Given the description of an element on the screen output the (x, y) to click on. 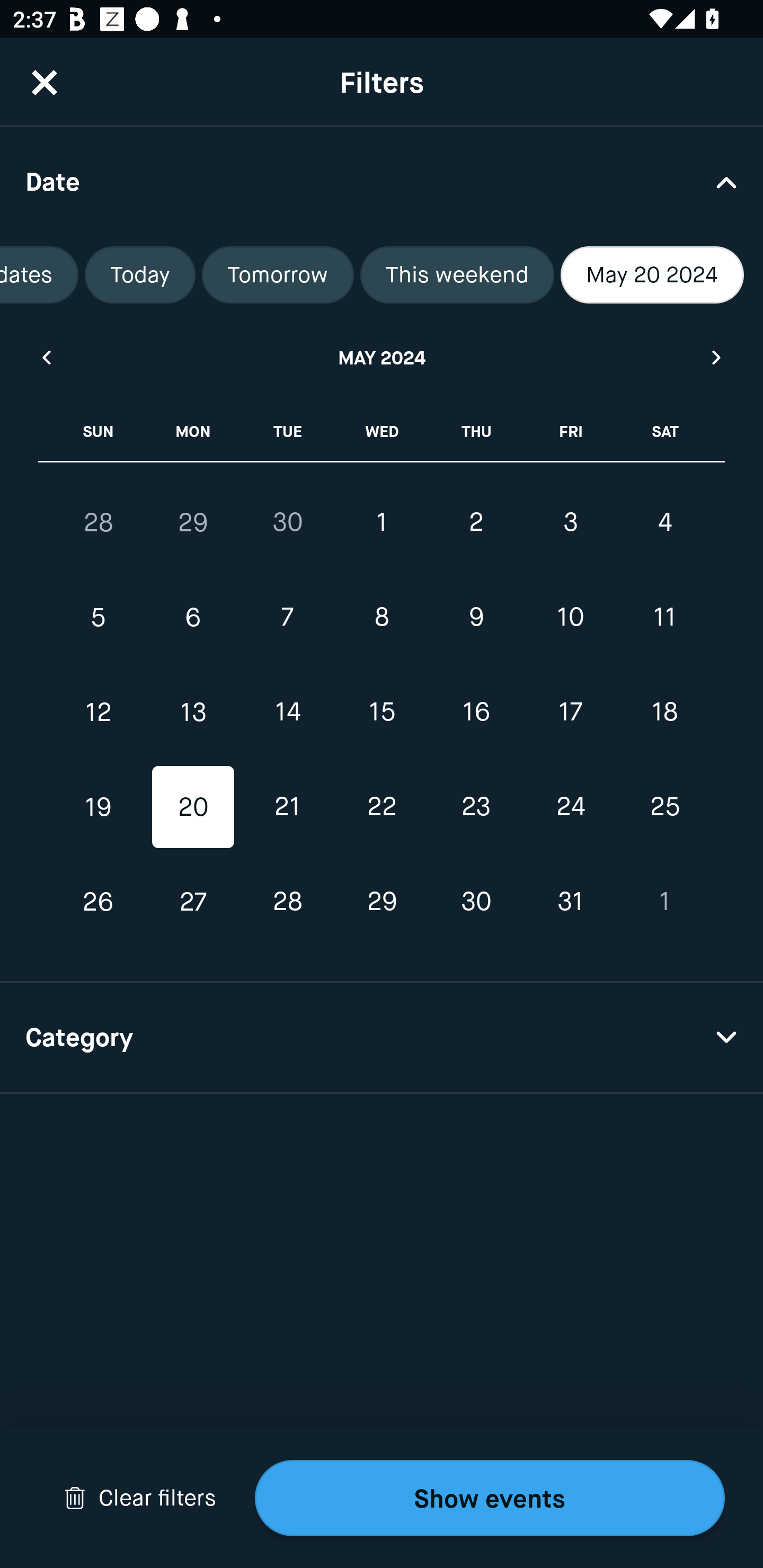
CloseButton (44, 82)
Date Drop Down Arrow (381, 181)
Today (139, 274)
Tomorrow (278, 274)
This weekend (456, 274)
May 20 2024 (651, 274)
Previous (45, 357)
Next (717, 357)
28 (98, 522)
29 (192, 522)
30 (287, 522)
1 (381, 522)
2 (475, 522)
3 (570, 522)
4 (664, 522)
5 (98, 617)
6 (192, 617)
7 (287, 617)
8 (381, 617)
9 (475, 617)
10 (570, 617)
11 (664, 617)
12 (98, 711)
13 (192, 711)
14 (287, 711)
15 (381, 711)
16 (475, 711)
17 (570, 711)
18 (664, 711)
19 (98, 806)
20 (192, 806)
21 (287, 806)
22 (381, 806)
23 (475, 806)
24 (570, 806)
25 (664, 806)
26 (98, 901)
27 (192, 901)
28 (287, 901)
29 (381, 901)
30 (475, 901)
31 (570, 901)
1 (664, 901)
Category Drop Down Arrow (381, 1038)
Drop Down Arrow Clear filters (139, 1497)
Show events (489, 1497)
